Given the description of an element on the screen output the (x, y) to click on. 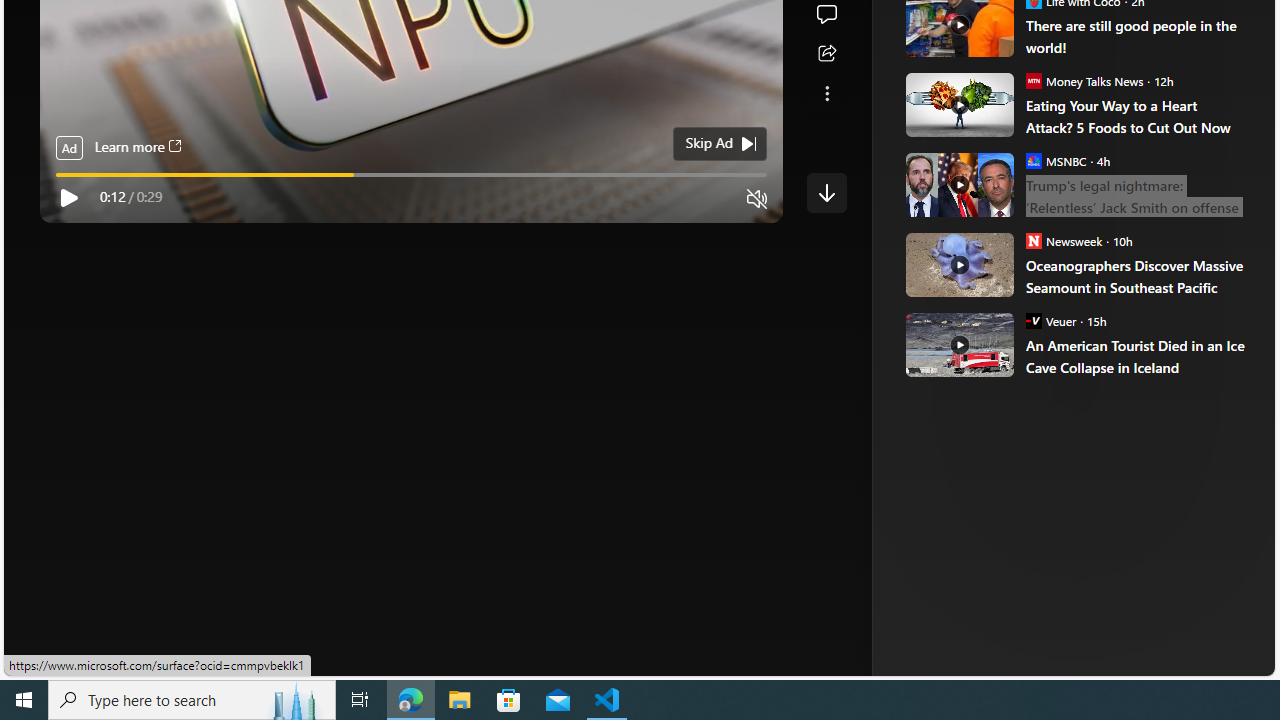
Money Talks News (1033, 80)
Learn more (137, 147)
There are still good people in the world! (1136, 36)
An American Tourist Died in an Ice Cave Collapse in Iceland (958, 344)
MSNBC MSNBC (1055, 160)
